Given the description of an element on the screen output the (x, y) to click on. 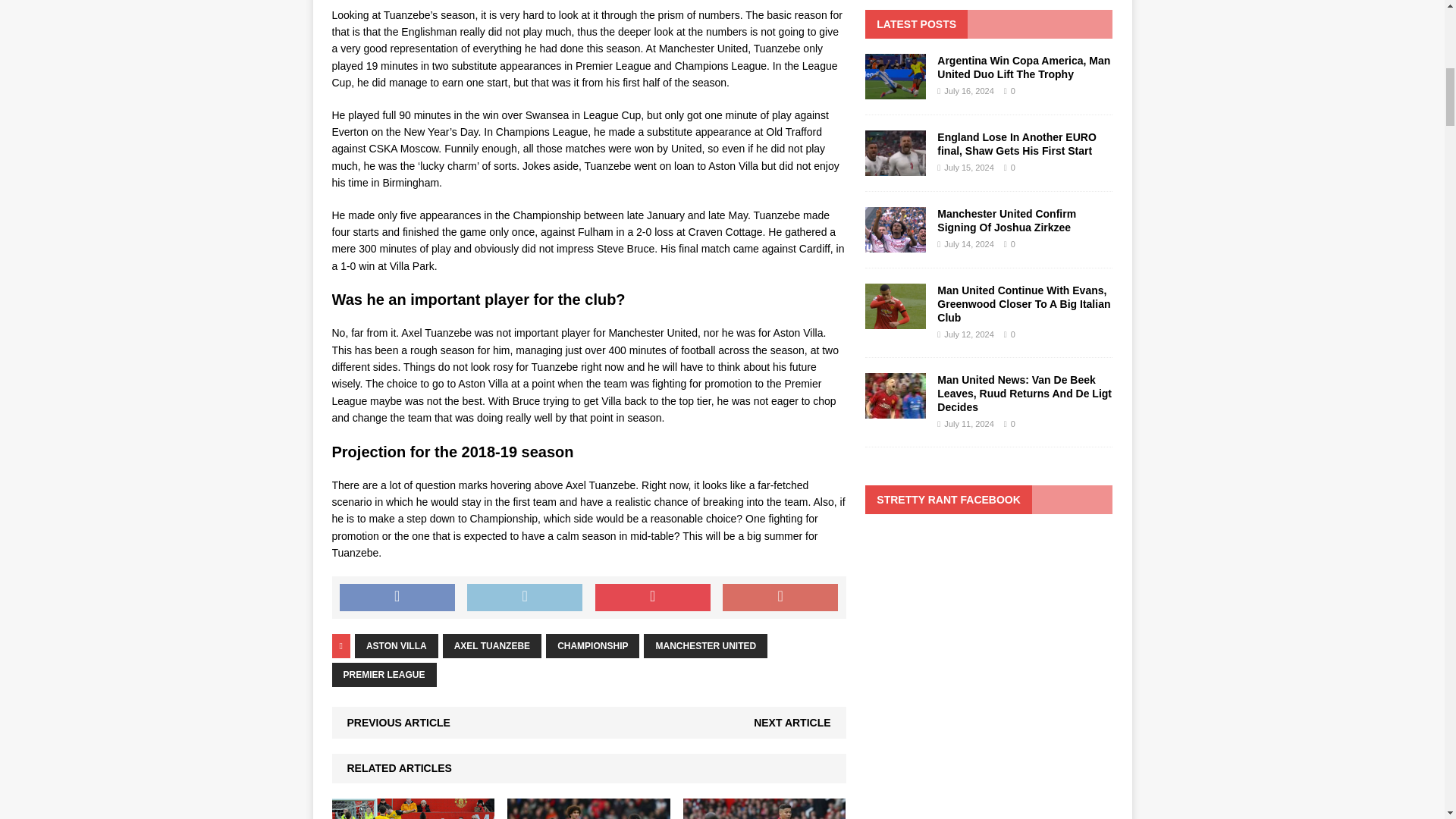
Pin This Post (652, 596)
Tweet This Post (524, 596)
Share on Facebook (396, 596)
